Given the description of an element on the screen output the (x, y) to click on. 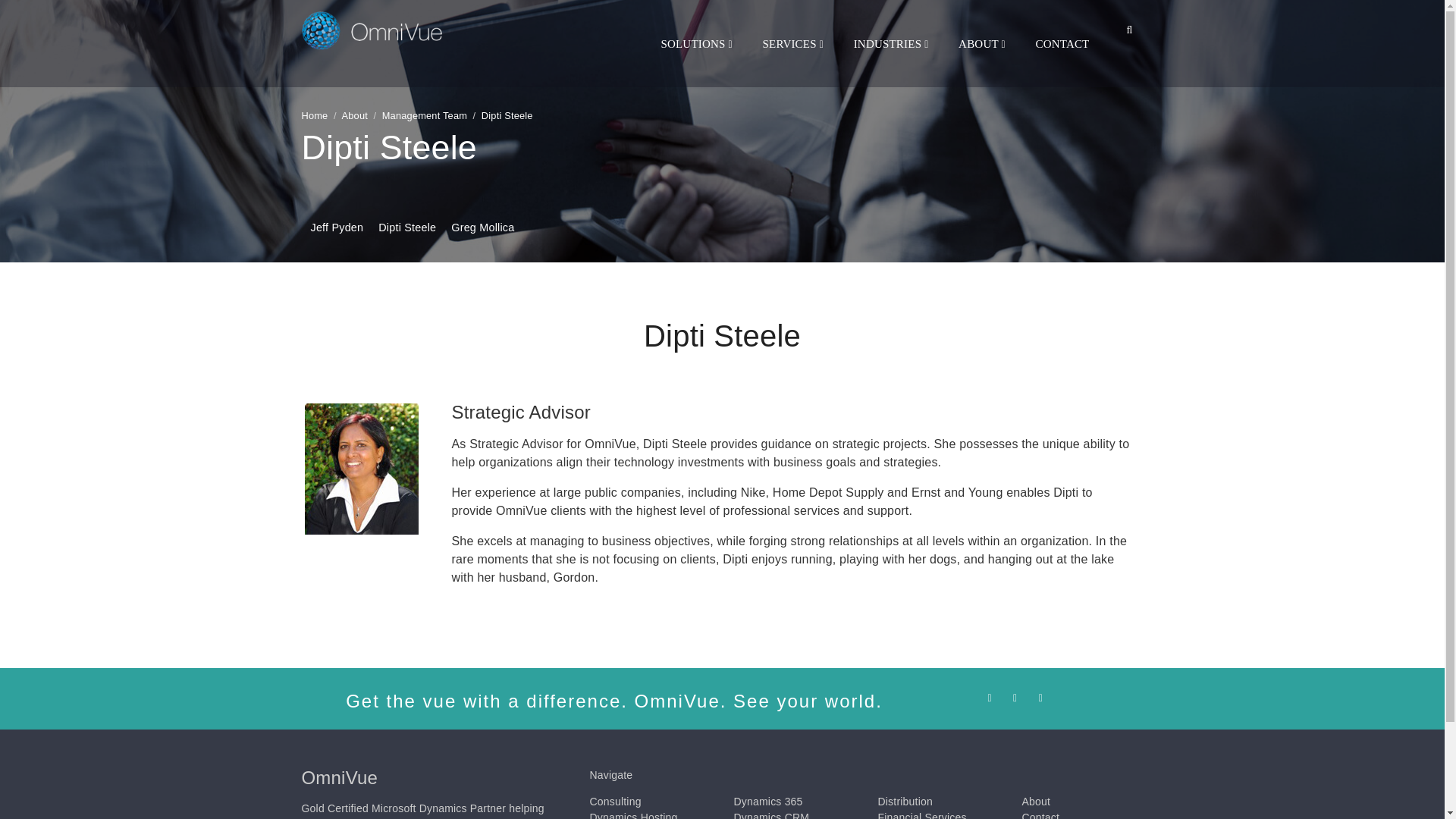
INDUSTRIES (890, 43)
SOLUTIONS (696, 43)
About (355, 115)
Home (315, 115)
Management Team (424, 115)
SERVICES (792, 43)
